Given the description of an element on the screen output the (x, y) to click on. 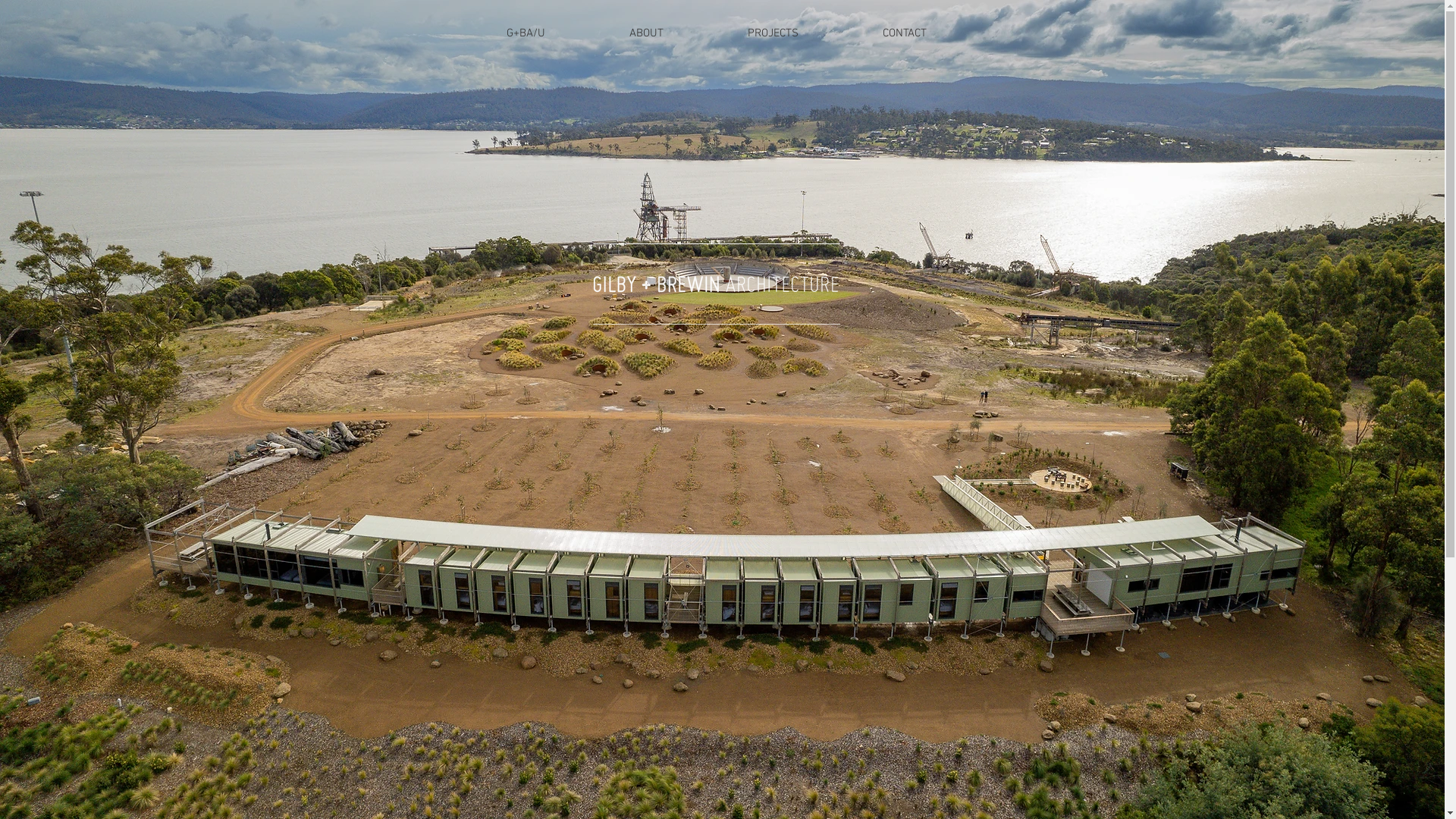
ABOUT Element type: text (645, 32)
CONTACT Element type: text (903, 32)
G+BA/U Element type: text (525, 32)
PROJECTS Element type: text (772, 32)
